Given the description of an element on the screen output the (x, y) to click on. 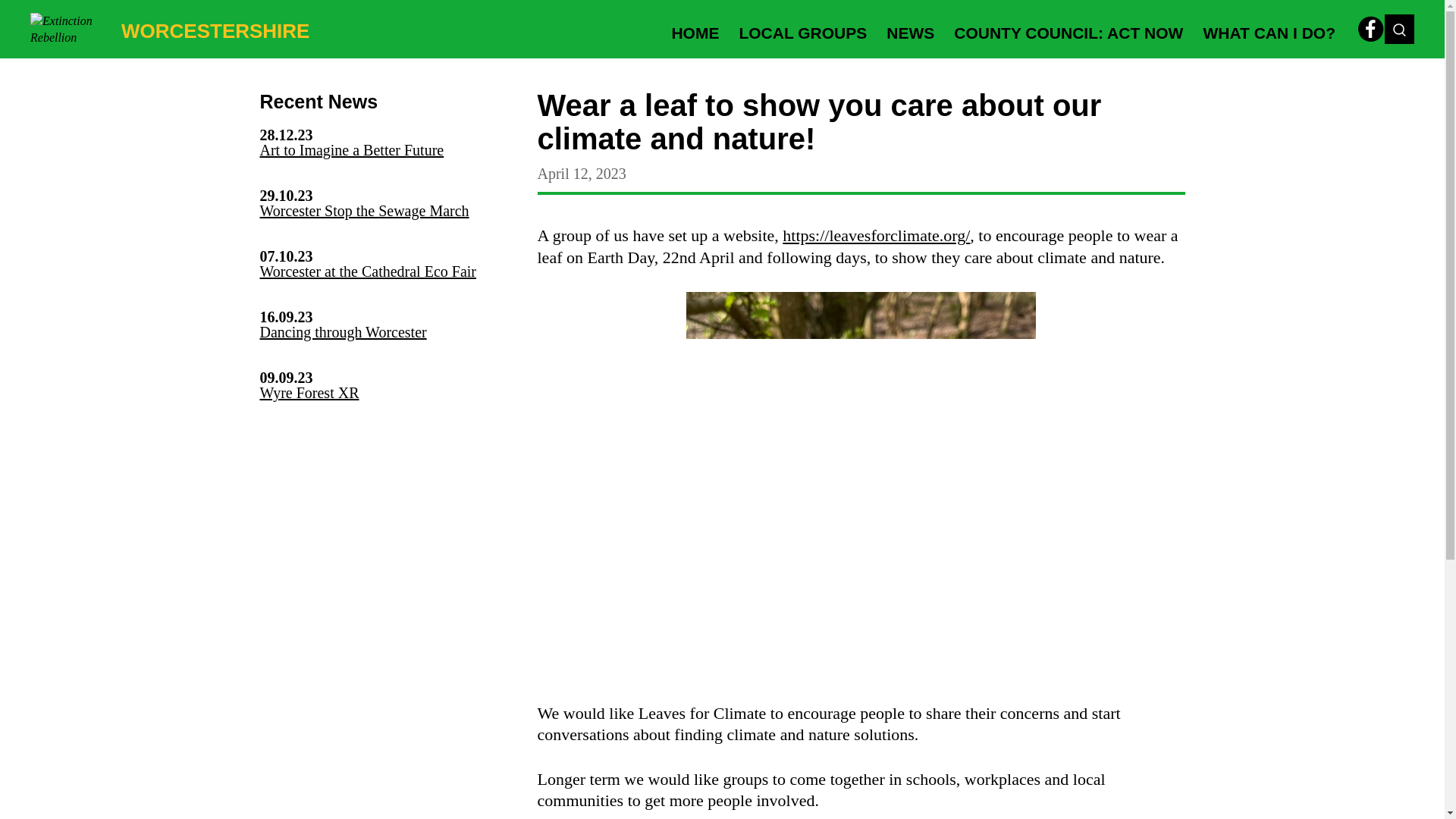
Art to Imagine a Better Future (351, 149)
Worcester at the Cathedral Eco Fair (367, 271)
Wyre Forest XR (308, 392)
16.09.23 (382, 316)
07.10.23 (382, 255)
29.10.23 (382, 195)
09.09.23 (382, 377)
WHAT CAN I DO? (1268, 29)
HOME (695, 29)
WORCESTERSHIRE (169, 29)
